Given the description of an element on the screen output the (x, y) to click on. 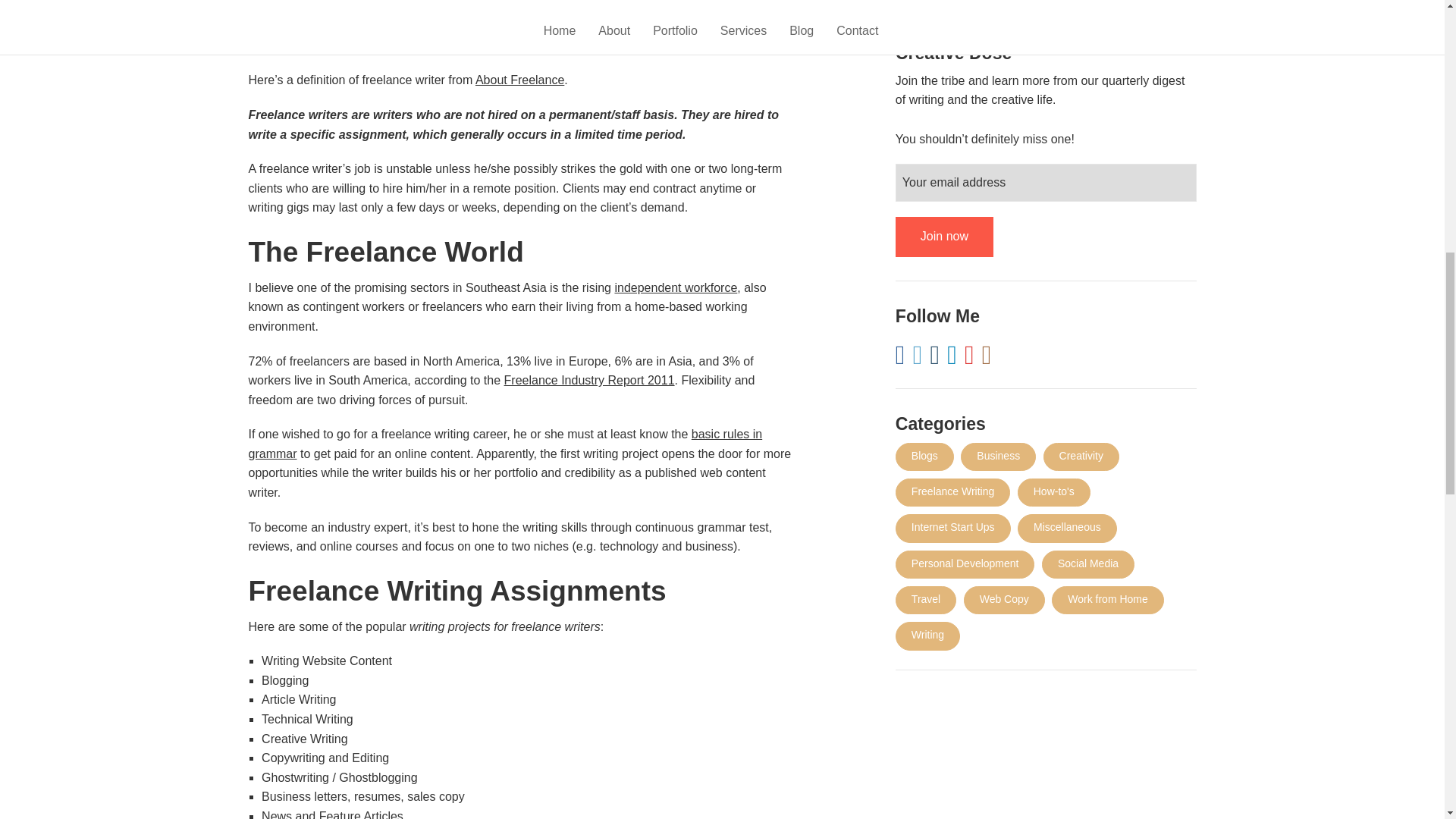
Blogs (924, 456)
Internet Start Ups (952, 528)
Join now (943, 237)
About Freelance (520, 79)
Freelance Industry Report 2011 (589, 379)
How-to's (1053, 492)
Business (997, 456)
independent workforce (675, 287)
basic rules in grammar (505, 443)
Personal Development (965, 564)
